Given the description of an element on the screen output the (x, y) to click on. 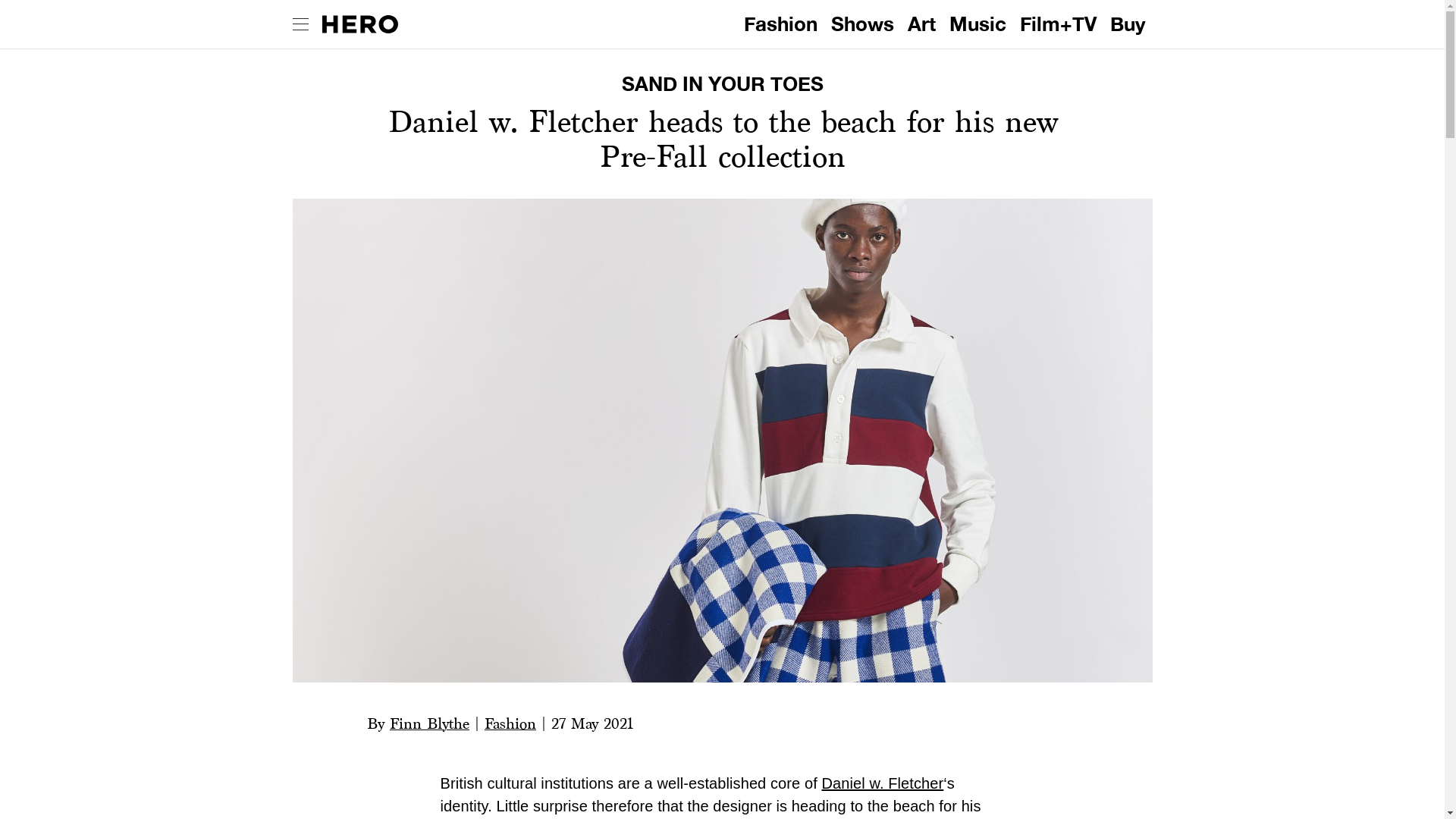
Daniel w. Fletcher (882, 782)
Art (921, 23)
Music (977, 23)
Buy (1127, 23)
Fashion (509, 723)
Finn Blythe (429, 723)
Shows (862, 23)
Fashion (781, 23)
